Given the description of an element on the screen output the (x, y) to click on. 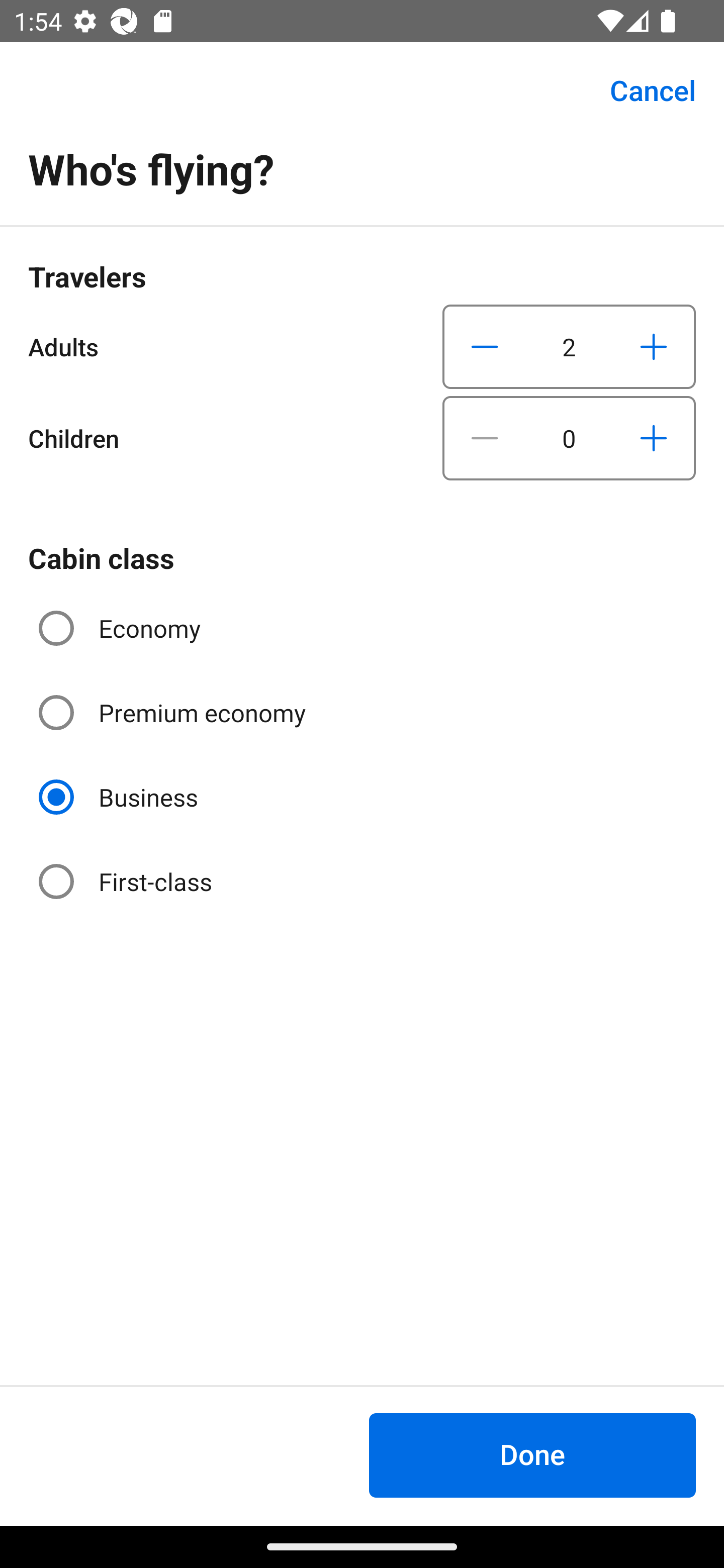
Cancel (641, 90)
Decrease (484, 346)
Increase (653, 346)
Decrease (484, 437)
Increase (653, 437)
Economy (121, 628)
Premium economy (174, 712)
Business (120, 796)
First-class (126, 880)
Done (532, 1454)
